Given the description of an element on the screen output the (x, y) to click on. 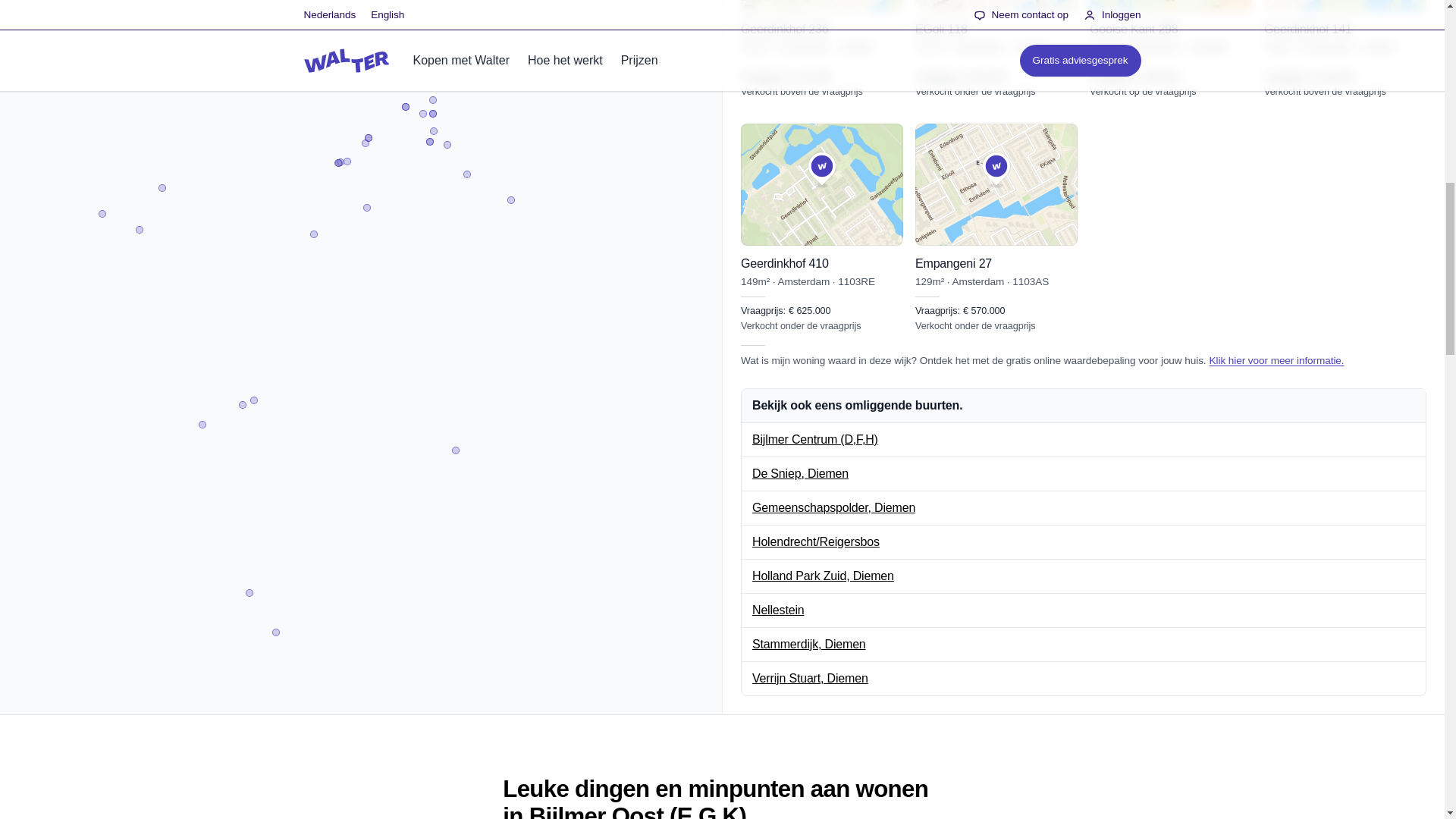
Geerdinkhof 141, Amsterdam (1344, 49)
EGoli 118, Amsterdam (996, 49)
Gooise Kant 298, Amsterdam (1170, 49)
Geerdinkhof 236, Amsterdam (821, 49)
